Given the description of an element on the screen output the (x, y) to click on. 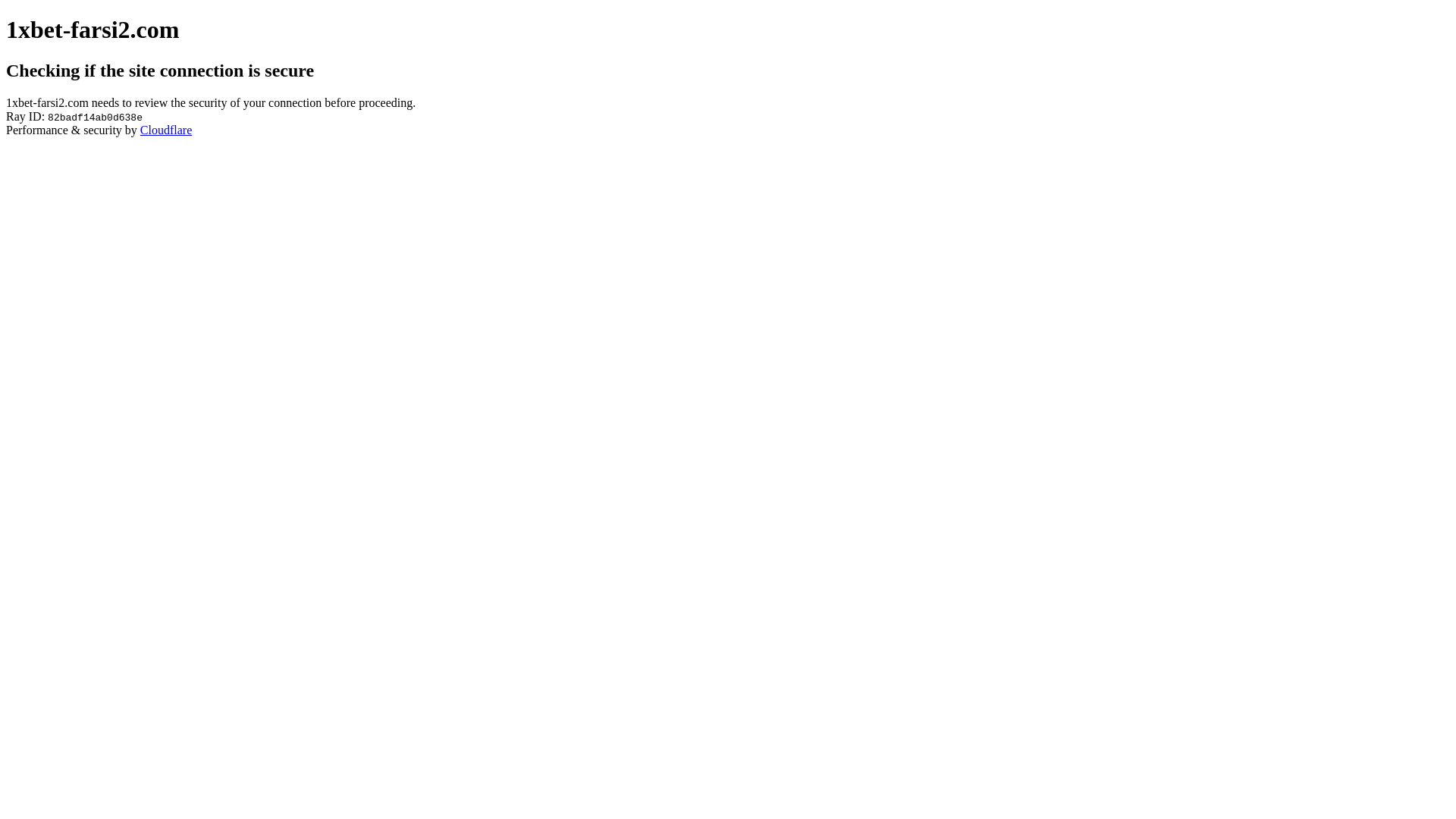
Cloudflare Element type: text (165, 129)
